Given the description of an element on the screen output the (x, y) to click on. 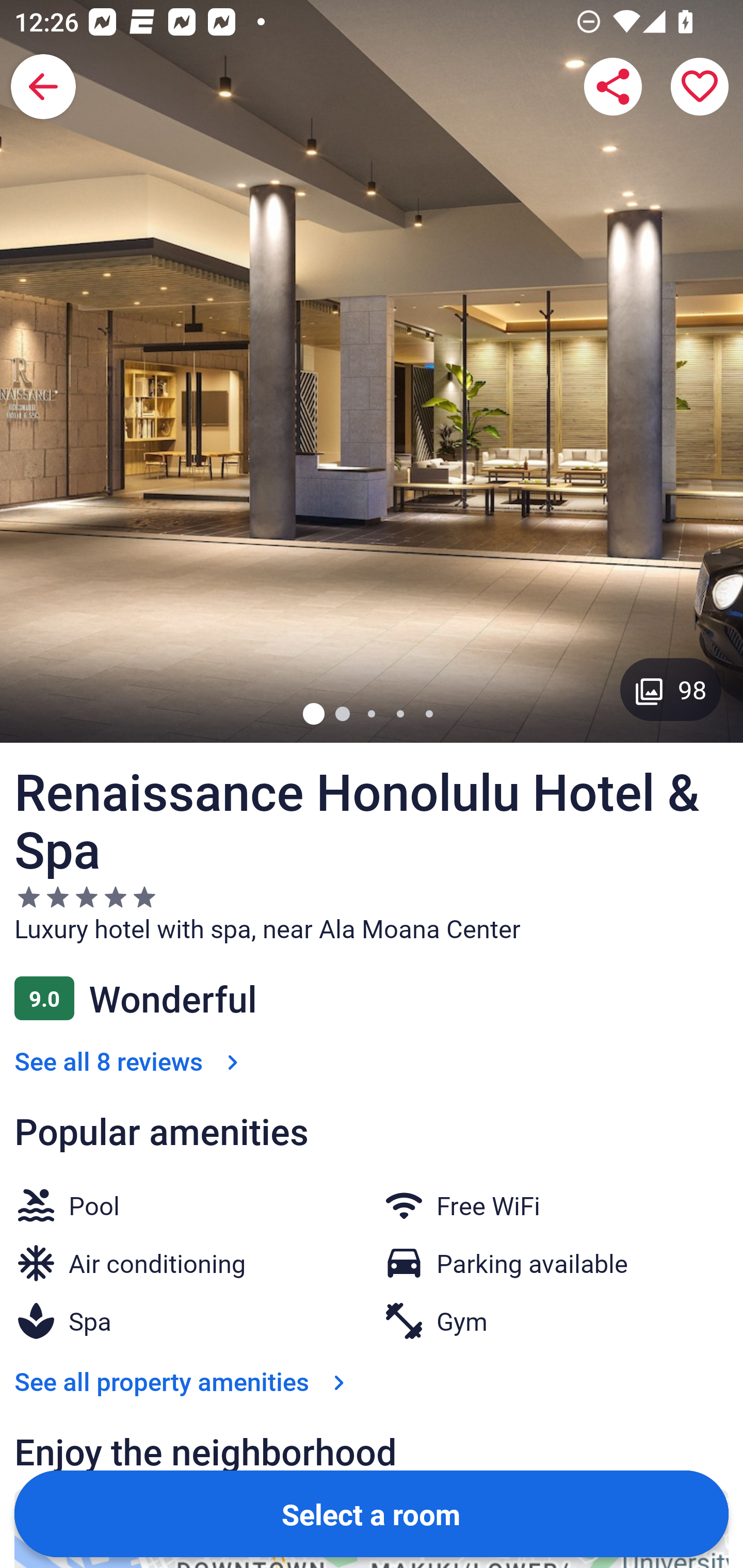
Back (43, 86)
Save property to a trip (699, 86)
Share Renaissance Honolulu Hotel & Spa (612, 87)
Gallery button with 98 images (670, 689)
See all 8 reviews See all 8 reviews Link (130, 1060)
See all property amenities (183, 1381)
Select a room Button Select a room (371, 1513)
